Given the description of an element on the screen output the (x, y) to click on. 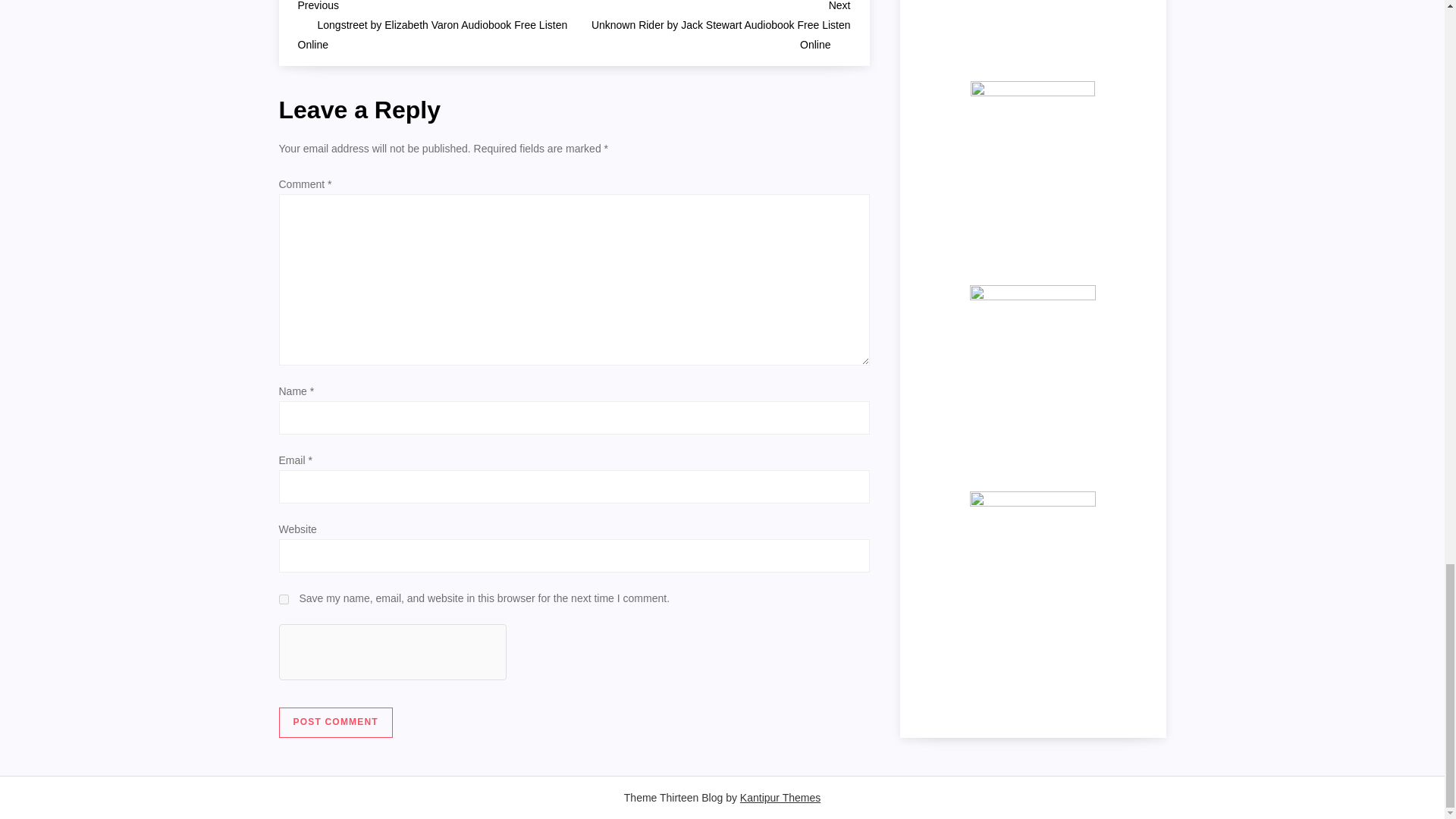
yes (283, 599)
Post Comment (336, 722)
